Given the description of an element on the screen output the (x, y) to click on. 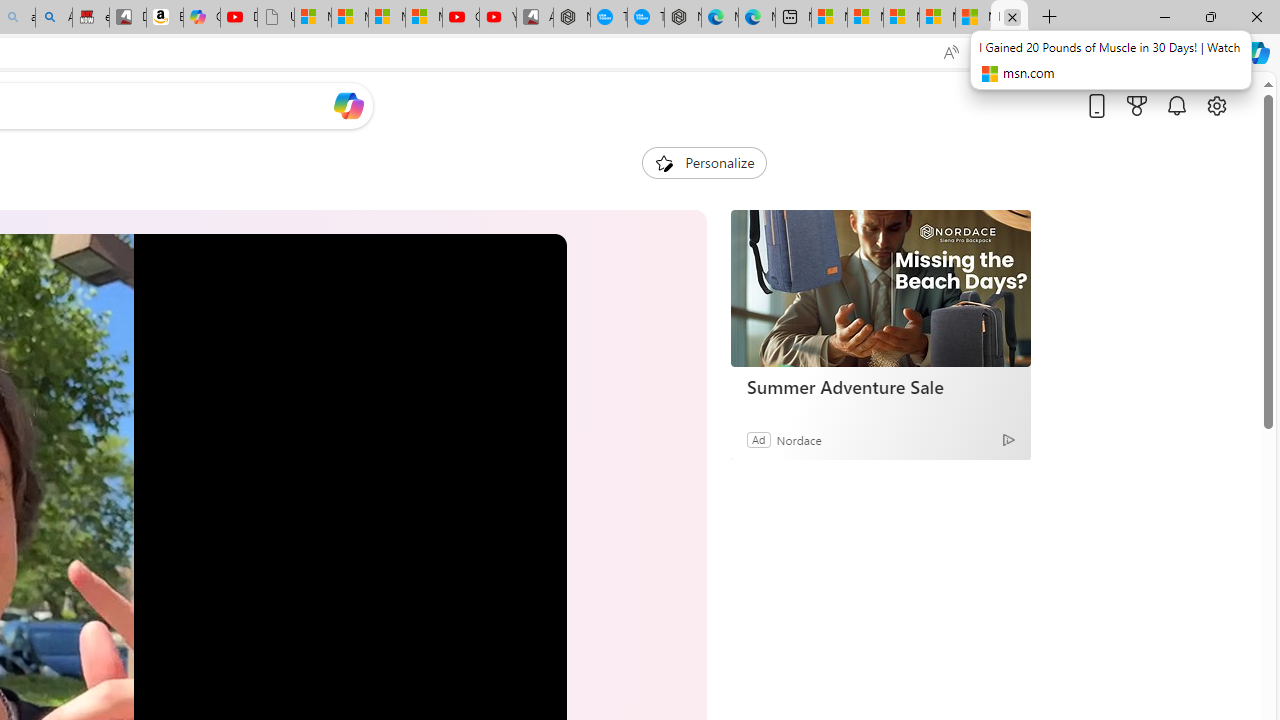
New Tab (1049, 17)
Read aloud this page (Ctrl+Shift+U) (950, 53)
Summer Adventure Sale (880, 386)
Enhance video (991, 53)
Close tab (1012, 16)
Add this page to favorites (Ctrl+D) (1030, 53)
Nordace - My Account (572, 17)
Untitled (276, 17)
YouTube Kids - An App Created for Kids to Explore Content (497, 17)
Summer Adventure Sale (879, 288)
I Gained 20 Pounds of Muscle in 30 Days! | Watch (1009, 17)
